Given the description of an element on the screen output the (x, y) to click on. 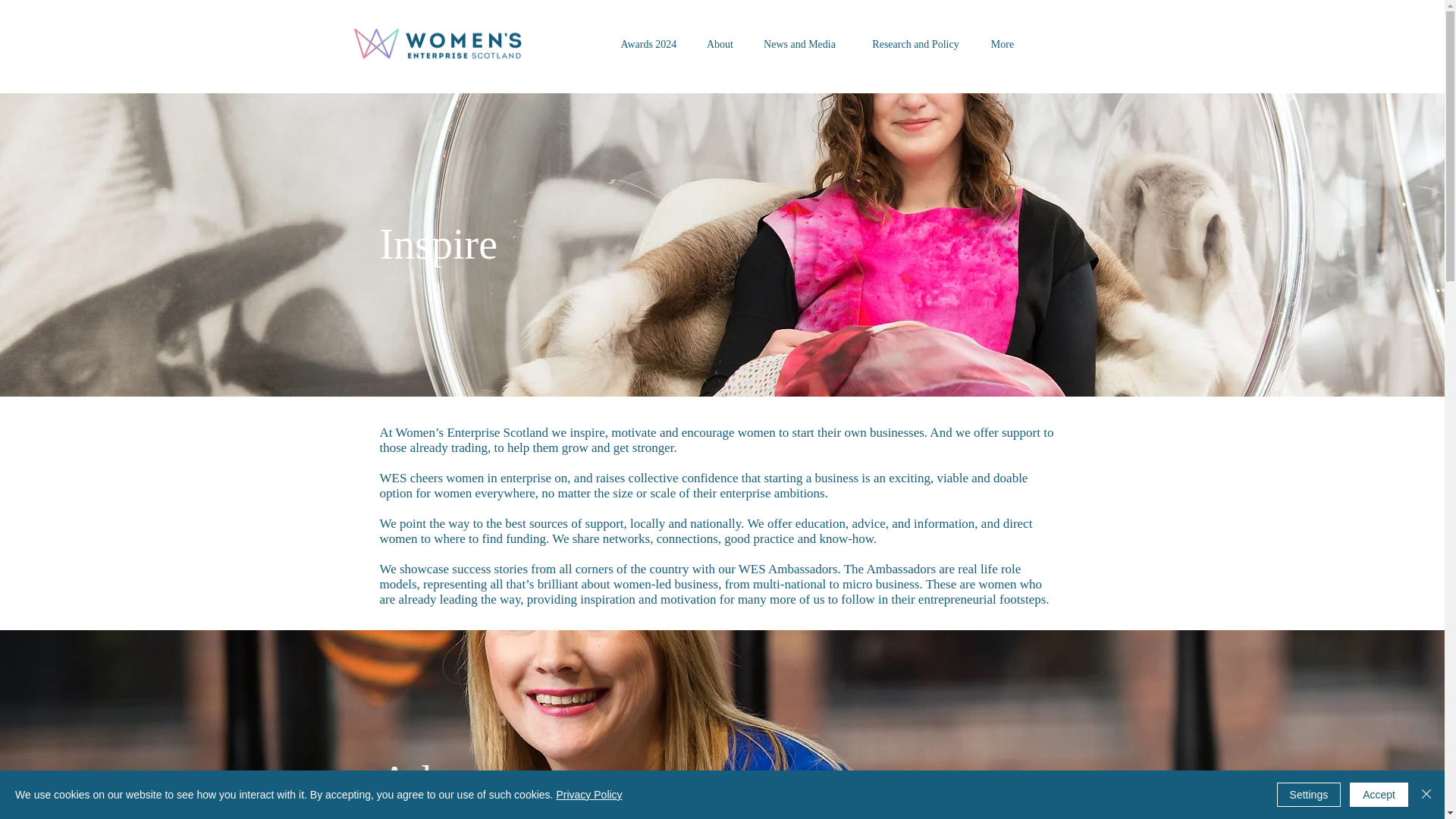
Privacy Policy (588, 794)
Settings (1308, 794)
Research and Policy (914, 44)
News and Media (798, 44)
Awards 2024 (648, 44)
Accept (1378, 794)
About (719, 44)
